Given the description of an element on the screen output the (x, y) to click on. 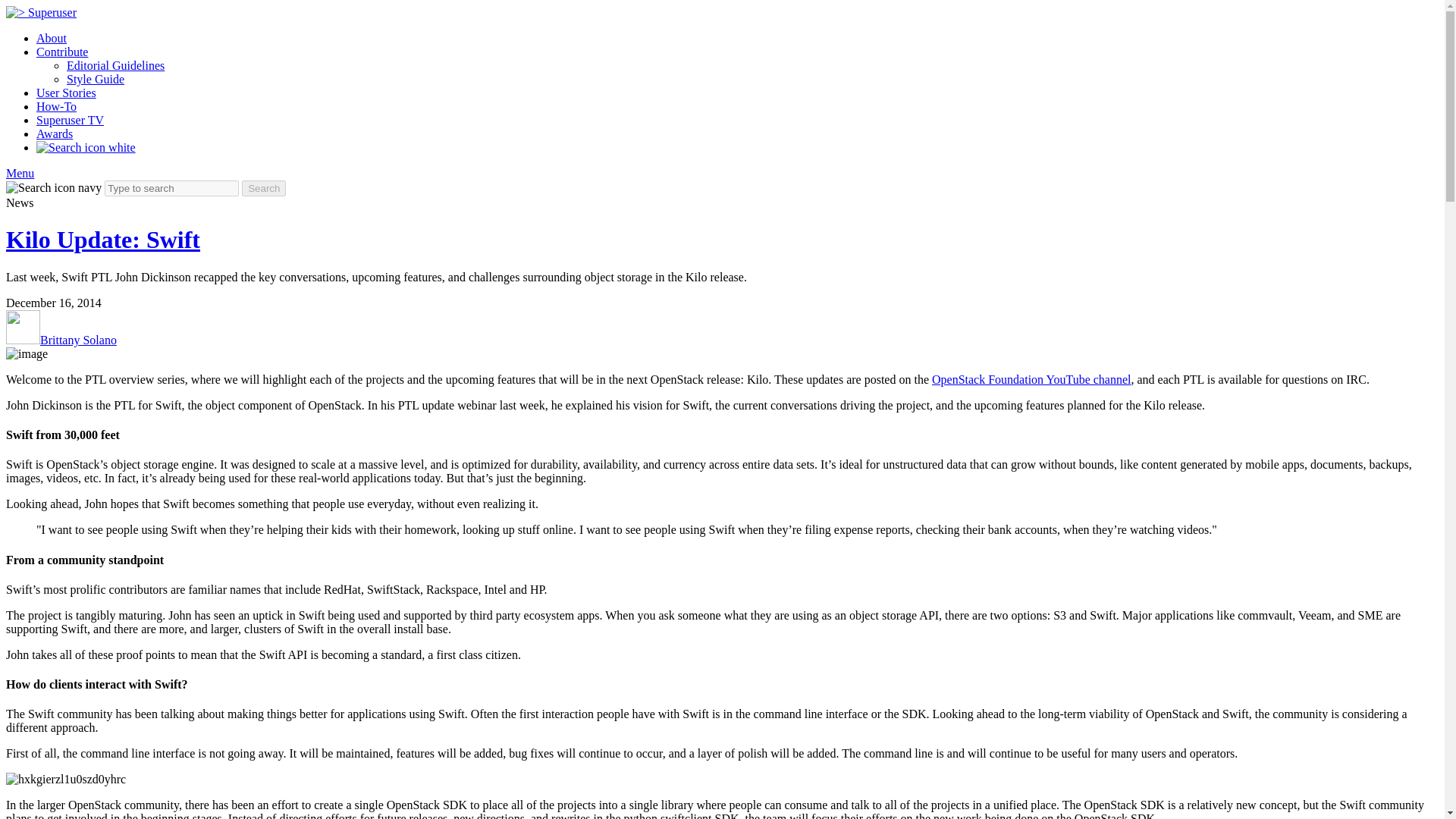
OpenStack Foundation YouTube channel (1031, 379)
Search (263, 188)
Superuser TV (69, 119)
Search (263, 188)
Menu (19, 173)
About (51, 38)
Kilo Update: Swift (102, 239)
Posts by Brittany Solano (78, 339)
Editorial Guidelines (115, 65)
Brittany Solano (78, 339)
Awards (54, 133)
Style Guide (94, 78)
User Stories (66, 92)
How-To (56, 106)
Contribute (61, 51)
